Given the description of an element on the screen output the (x, y) to click on. 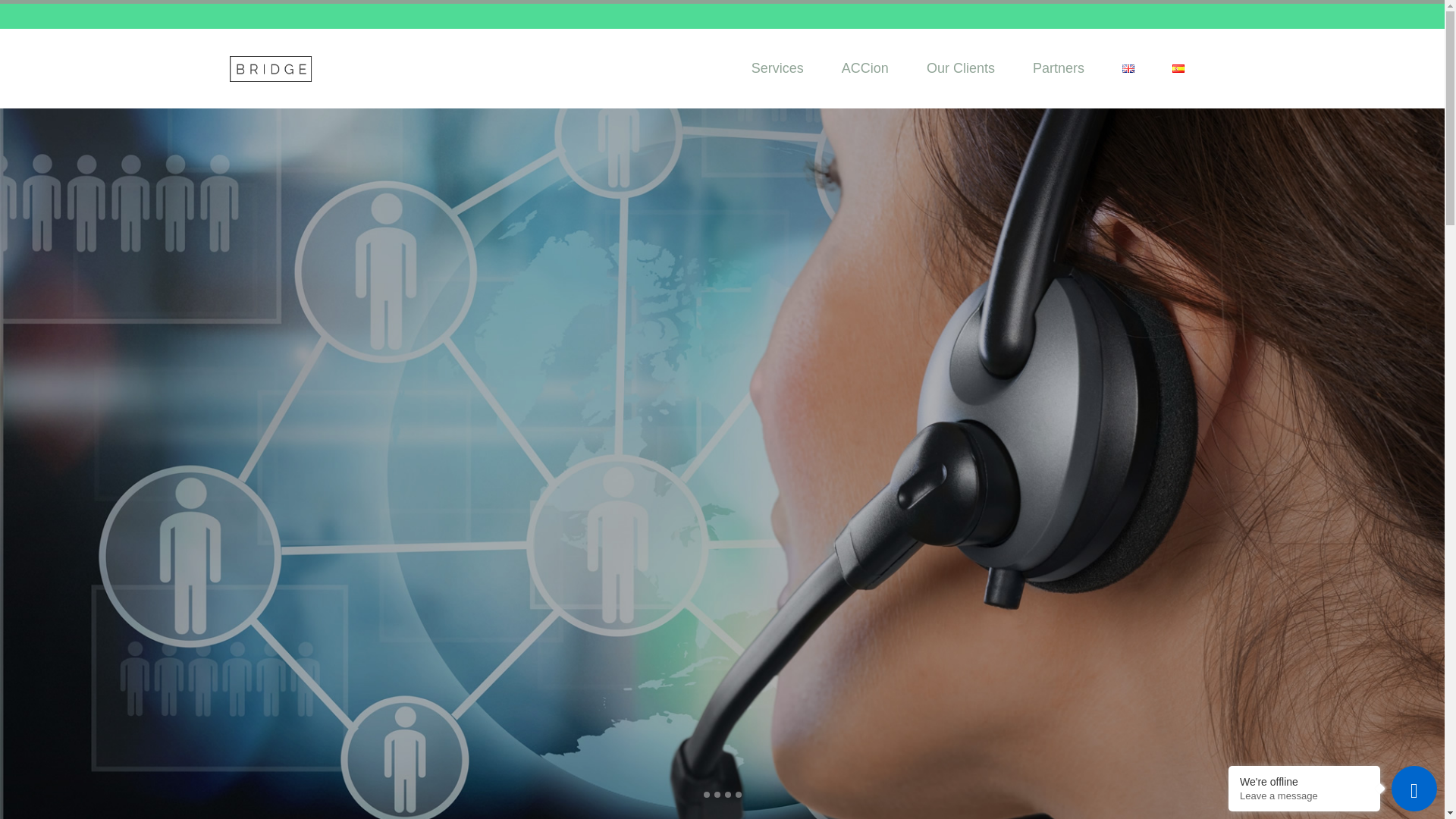
ACCion (864, 68)
Our Clients (960, 68)
Leave a message (1304, 795)
We're offline (1304, 781)
Services (777, 68)
Partners (1058, 68)
